Given the description of an element on the screen output the (x, y) to click on. 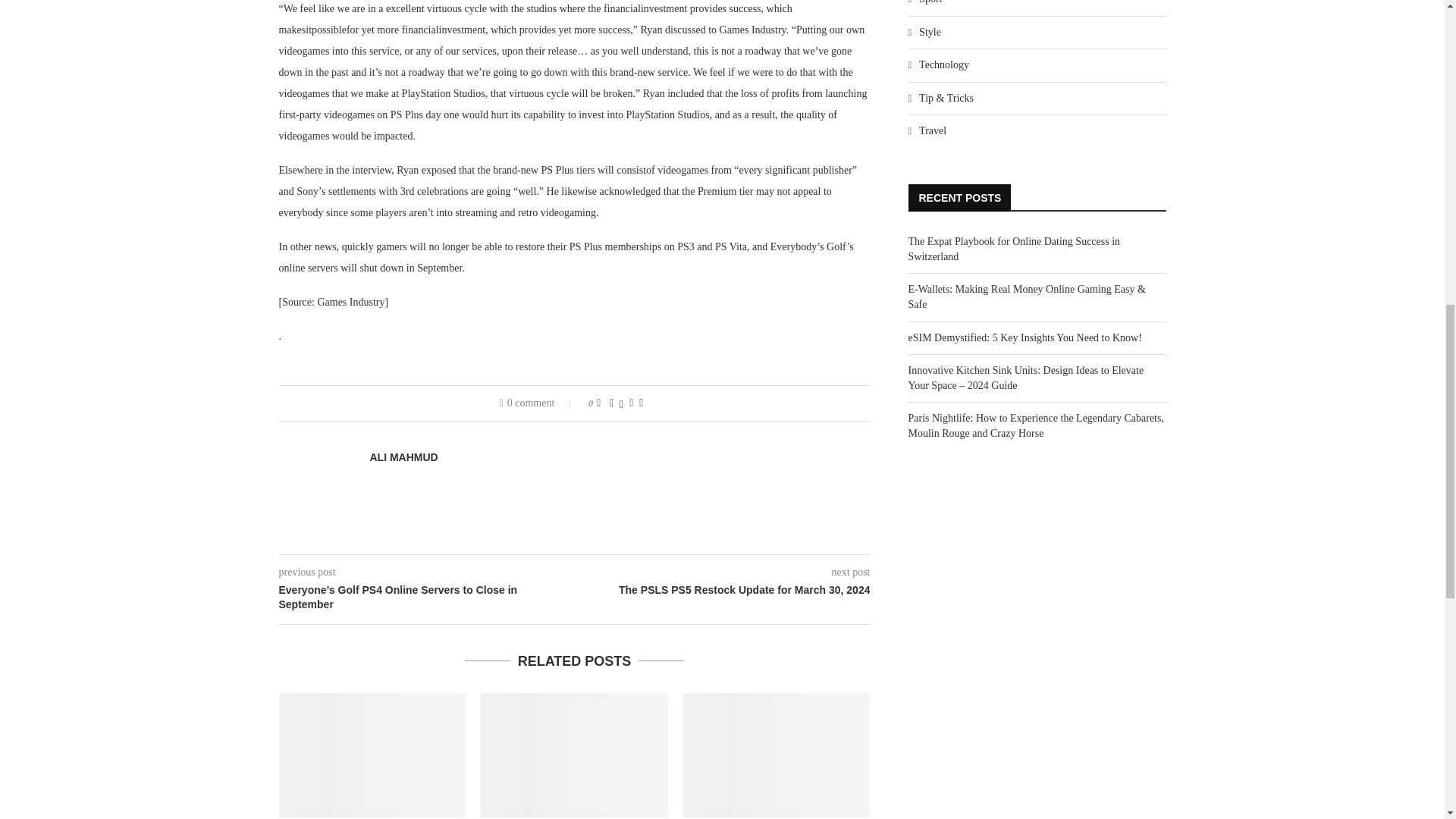
The PSLS PS5 Restock Update for March 30, 2024 (722, 590)
ALI MAHMUD (403, 457)
Author Ali Mahmud (403, 457)
The Expat Playbook for Online Dating Success in Switzerland (372, 754)
